Given the description of an element on the screen output the (x, y) to click on. 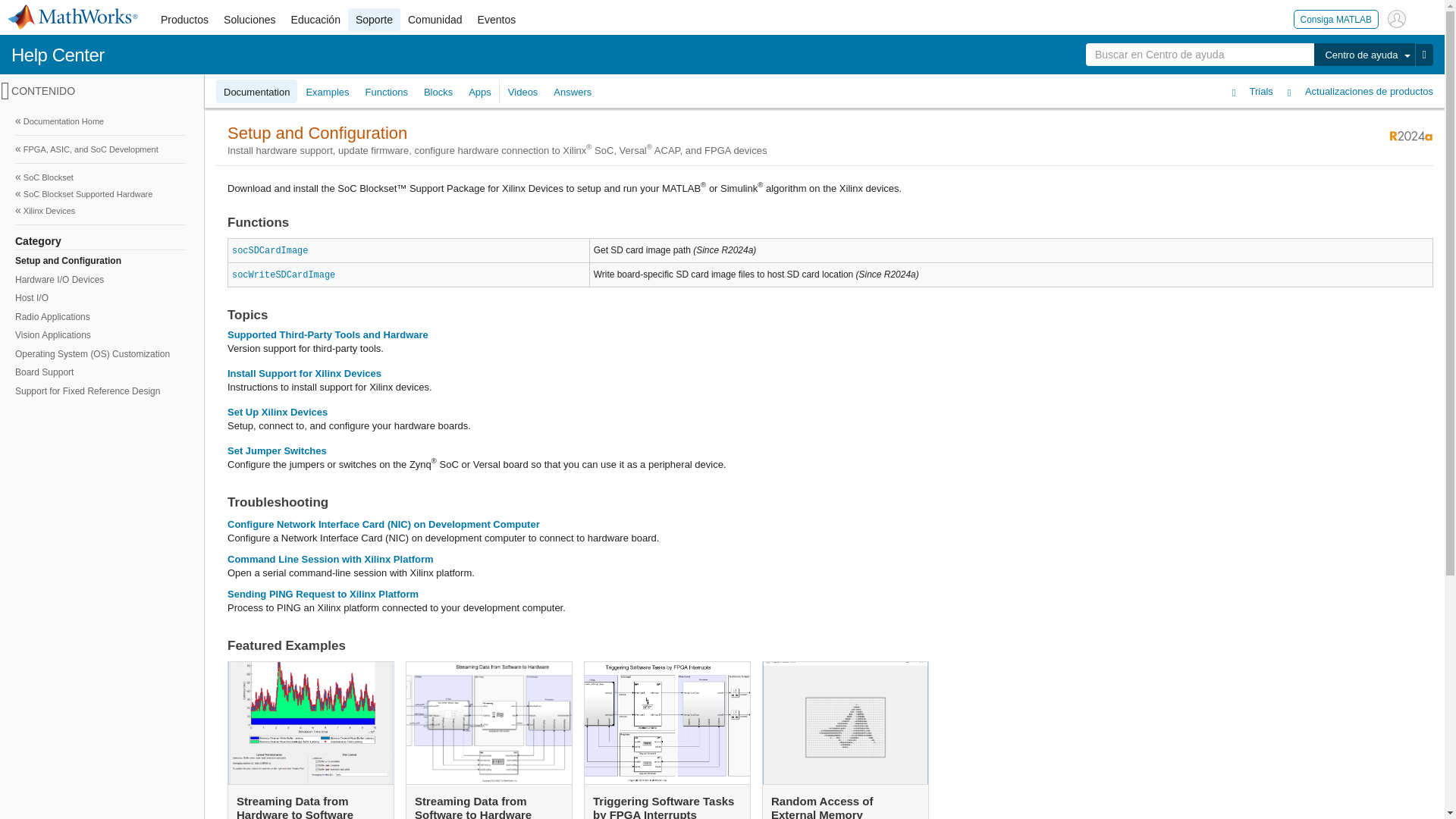
SoC Blockset (100, 176)
Soluciones (249, 19)
SoC Blockset Supported Hardware (100, 193)
Documentation Home (100, 121)
Productos (183, 19)
Consiga MATLAB (1336, 18)
FPGA, ASIC, and SoC Development (100, 149)
Eventos (497, 19)
Setup and Configuration (98, 261)
Help Center (57, 54)
Comunidad (435, 19)
Soporte (373, 19)
Xilinx Devices (100, 210)
Centro de ayuda (1363, 54)
